Given the description of an element on the screen output the (x, y) to click on. 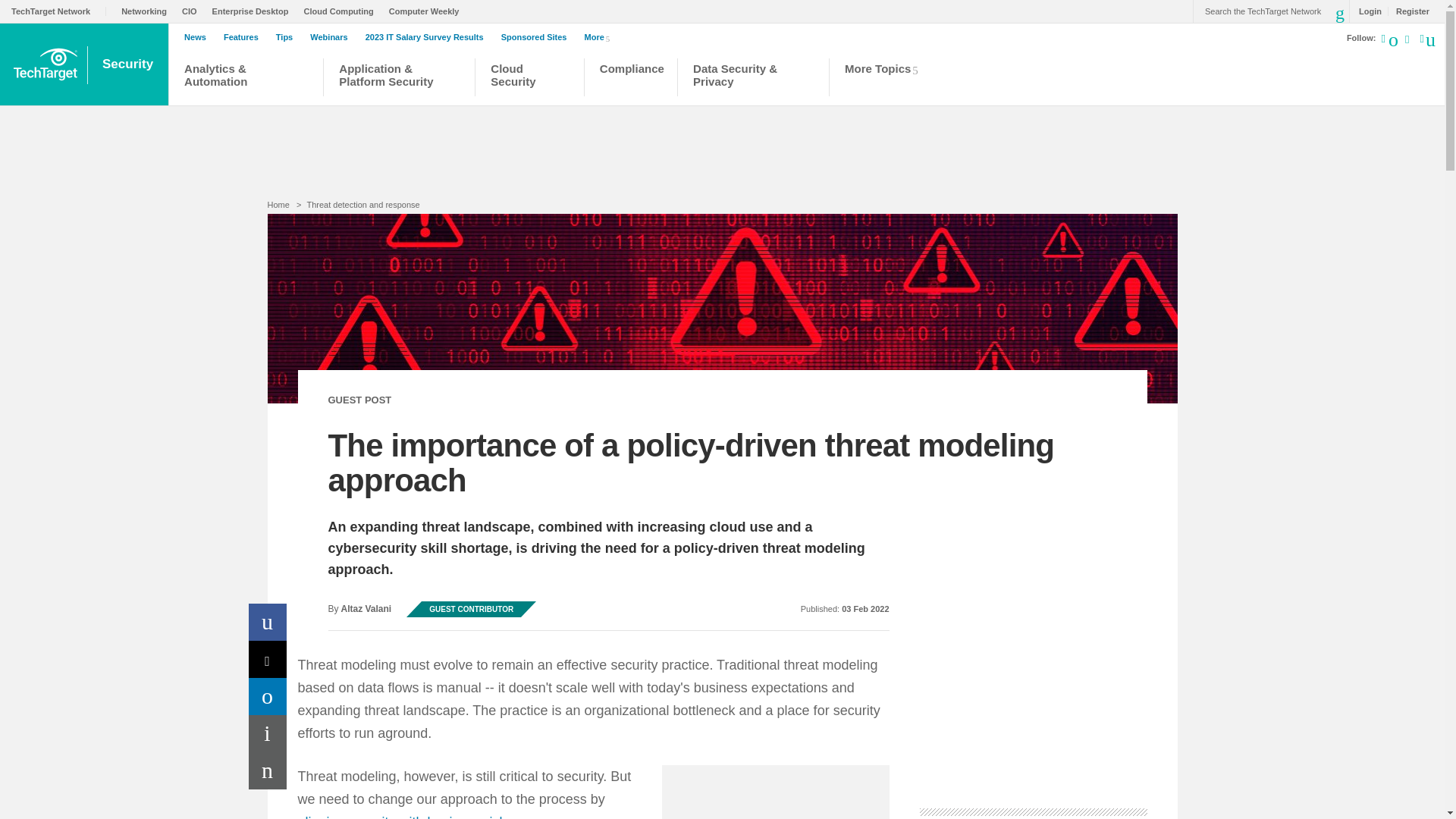
Networking (147, 10)
Cloud Security (528, 79)
More Topics (885, 79)
More (600, 36)
Print This Page (267, 733)
Webinars (332, 36)
Computer Weekly (427, 10)
Tips (287, 36)
Compliance (630, 79)
Register (1408, 10)
News (199, 36)
TechTarget Network (58, 10)
Email a Friend (267, 770)
Share on Facebook (267, 621)
Sponsored Sites (537, 36)
